Given the description of an element on the screen output the (x, y) to click on. 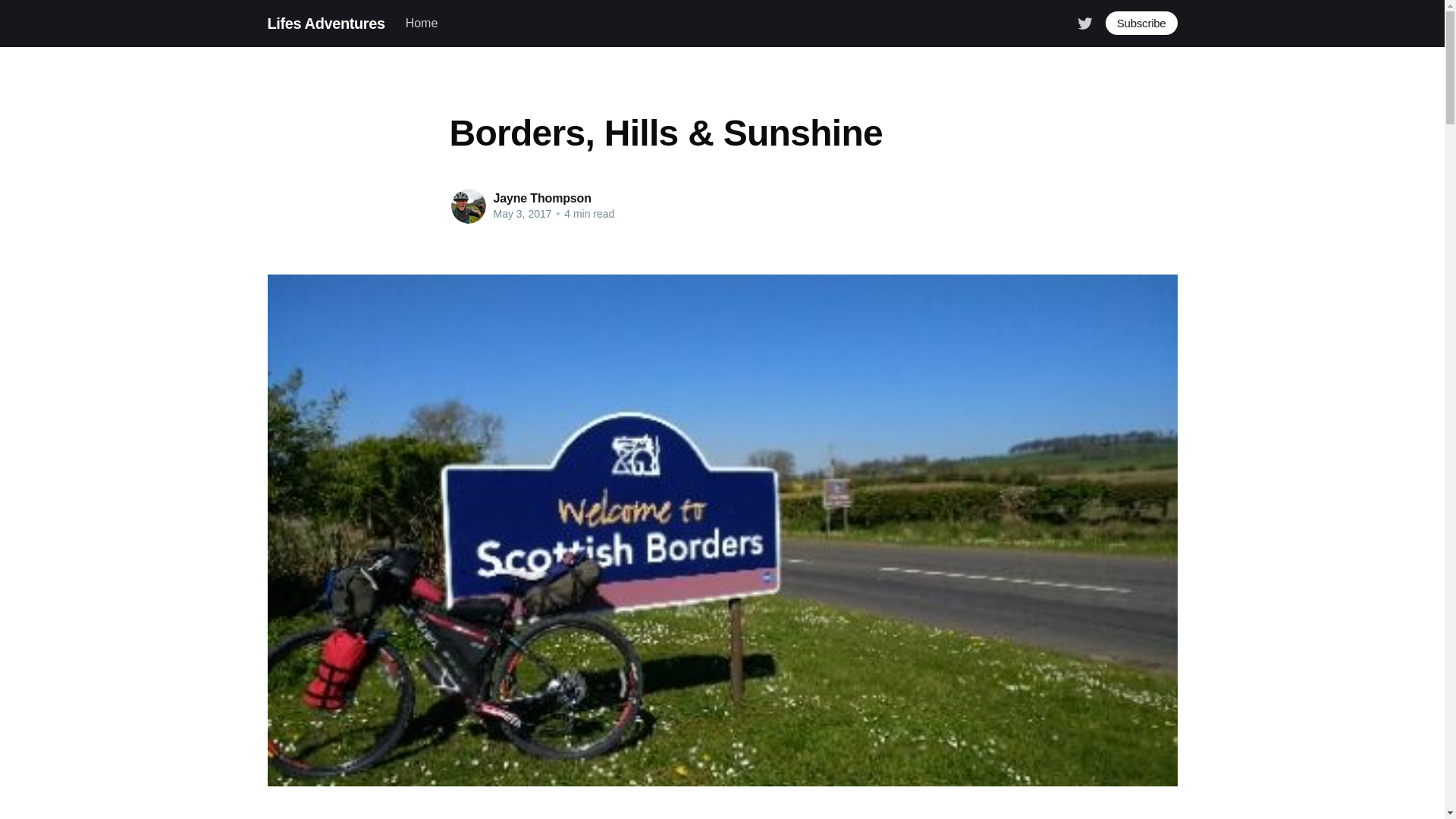
Home (422, 22)
Jayne Thompson (542, 197)
Twitter (1085, 21)
Subscribe (1141, 23)
Lifes Adventures (325, 23)
